Given the description of an element on the screen output the (x, y) to click on. 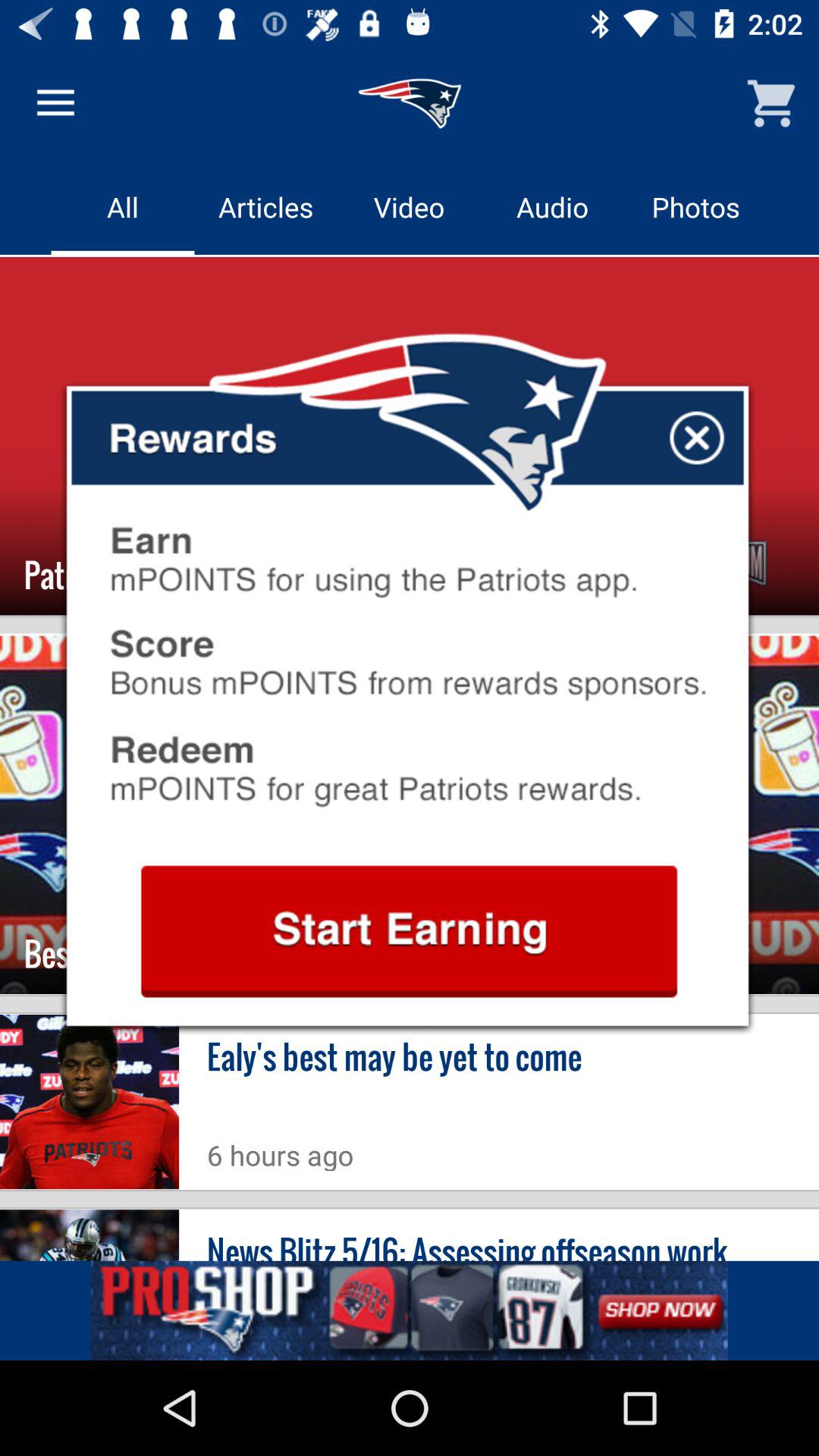
begin rewards account (408, 931)
